Given the description of an element on the screen output the (x, y) to click on. 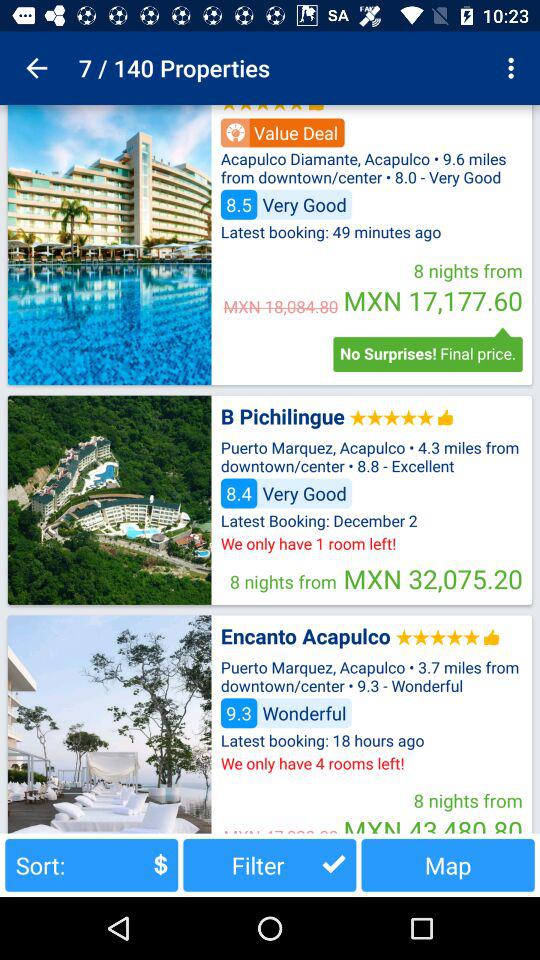
turn on the item to the right of the filter item (447, 864)
